Given the description of an element on the screen output the (x, y) to click on. 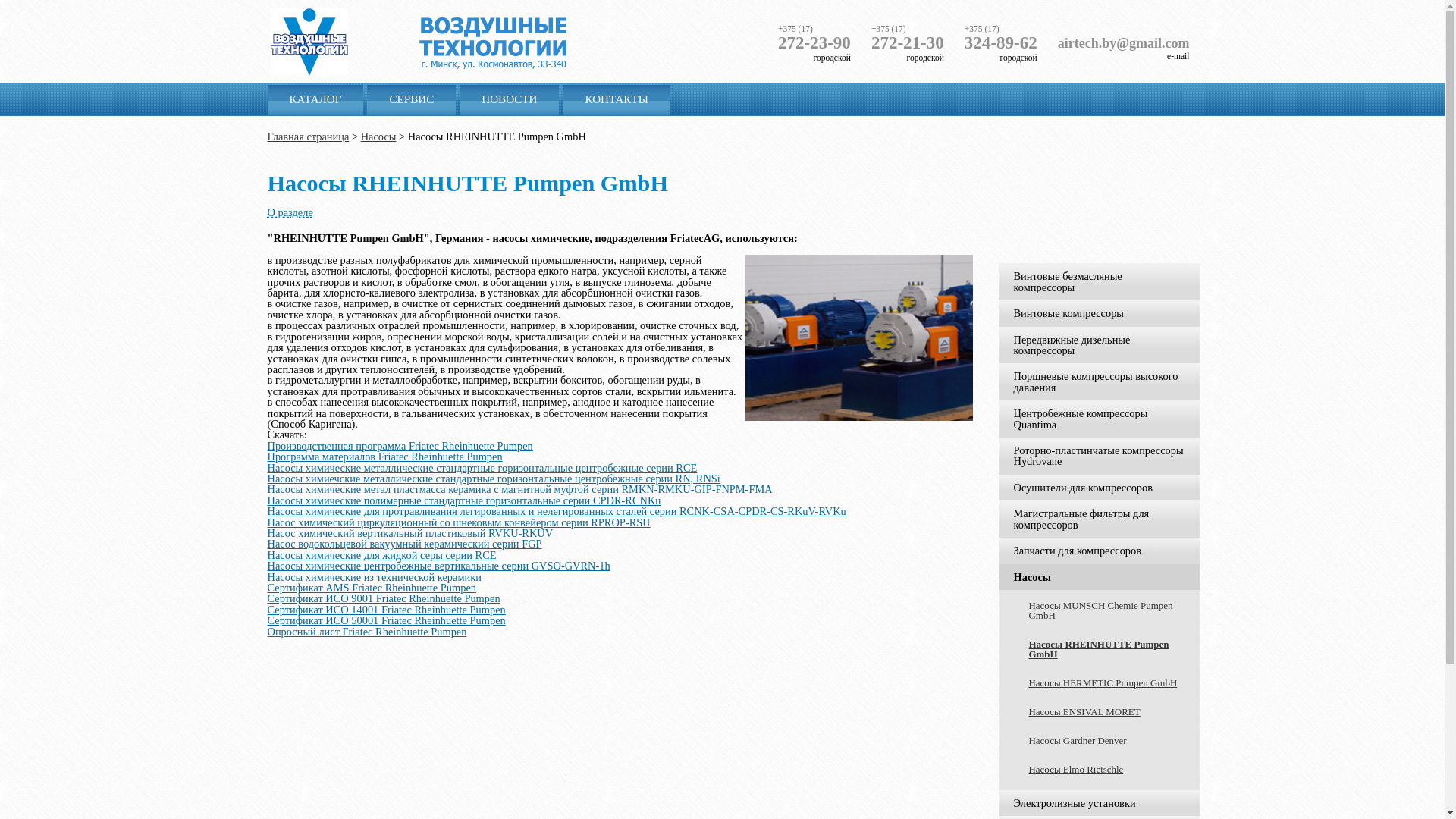
272-21-30 Element type: text (907, 42)
324-89-62 Element type: text (1000, 42)
272-23-90 Element type: text (814, 42)
airtech.by@gmail.com Element type: text (1123, 42)
